Given the description of an element on the screen output the (x, y) to click on. 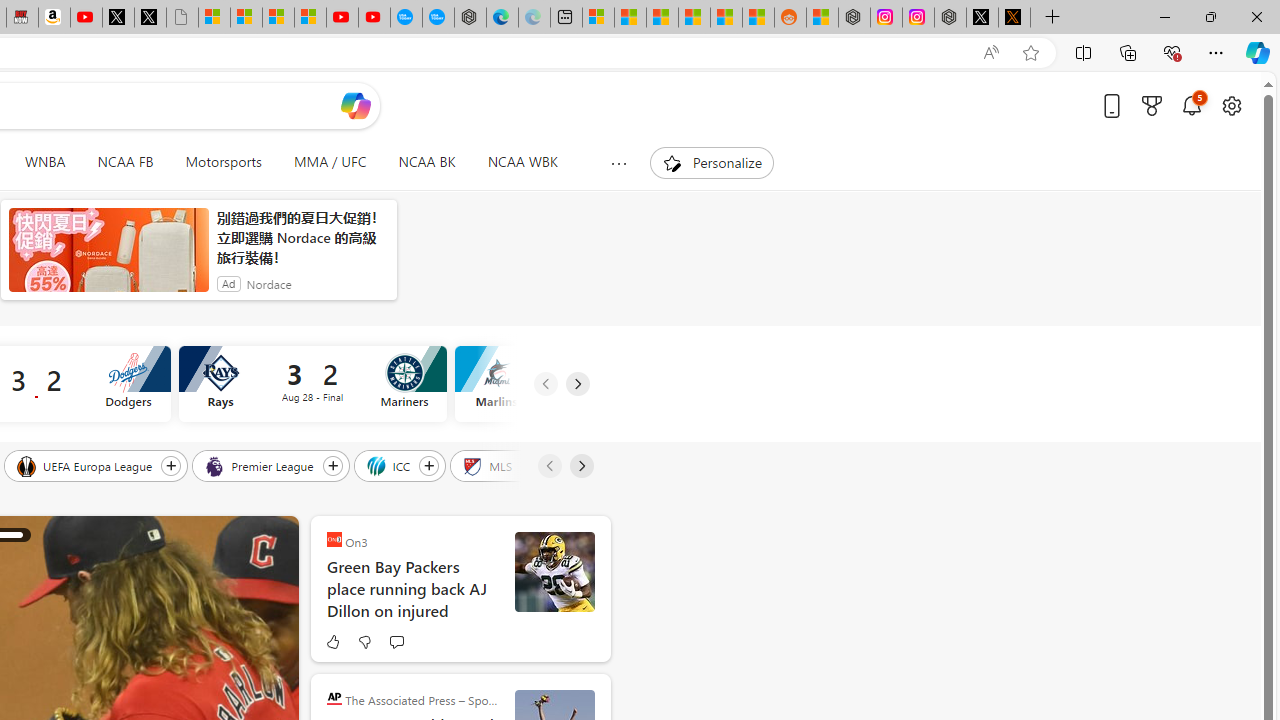
MLS (488, 465)
NCAA WBK (522, 162)
UEFA Europa League (86, 465)
Follow ICC (429, 465)
On3 (333, 539)
